Given the description of an element on the screen output the (x, y) to click on. 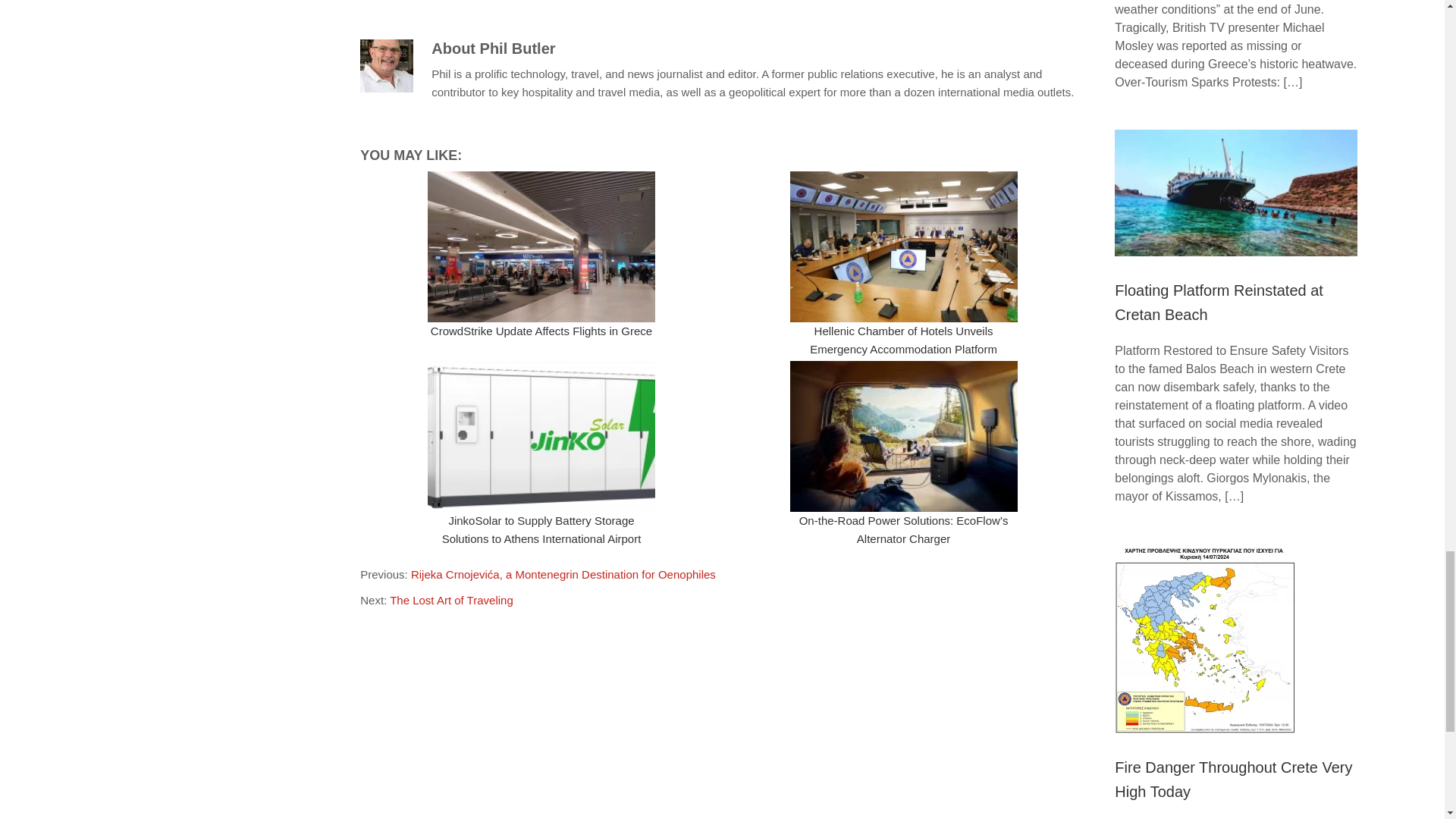
Permanent Link toCrowdStrike Update Affects Flights in Grece (541, 330)
Permanent Link to  (903, 436)
Permanent Link to  (540, 246)
Permanent Link to  (540, 436)
Permanent Link to  (903, 246)
CrowdStrike Update Affects Flights in Grece (541, 330)
